Given the description of an element on the screen output the (x, y) to click on. 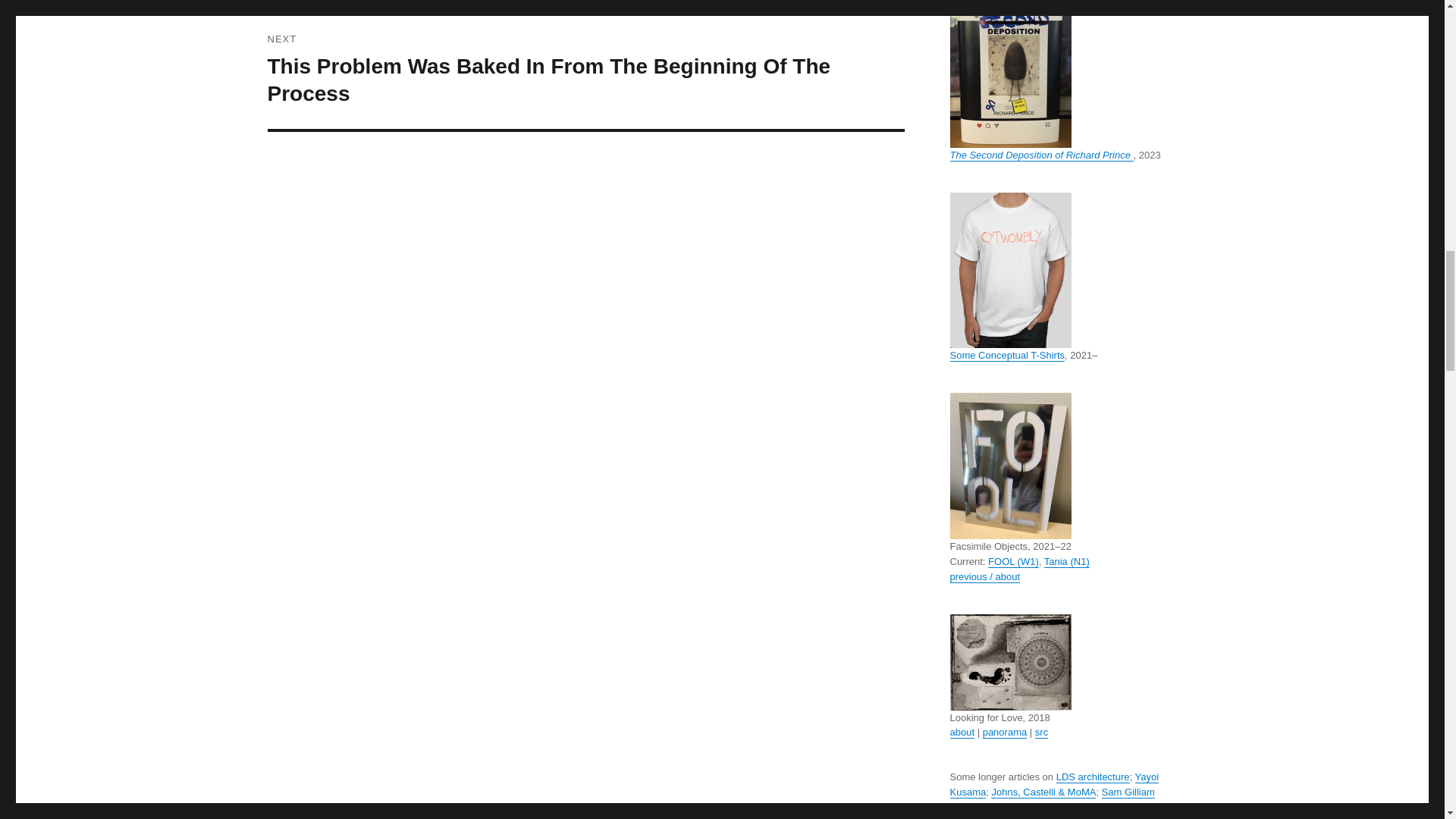
The Second Deposition of Richard Prince (1040, 154)
Some Conceptual T-Shirts (1006, 355)
LDS architecture (1093, 776)
about (961, 731)
Yayoi Kusama (1053, 784)
src (1041, 731)
Sam Gilliam (1128, 791)
panorama (1004, 731)
